Given the description of an element on the screen output the (x, y) to click on. 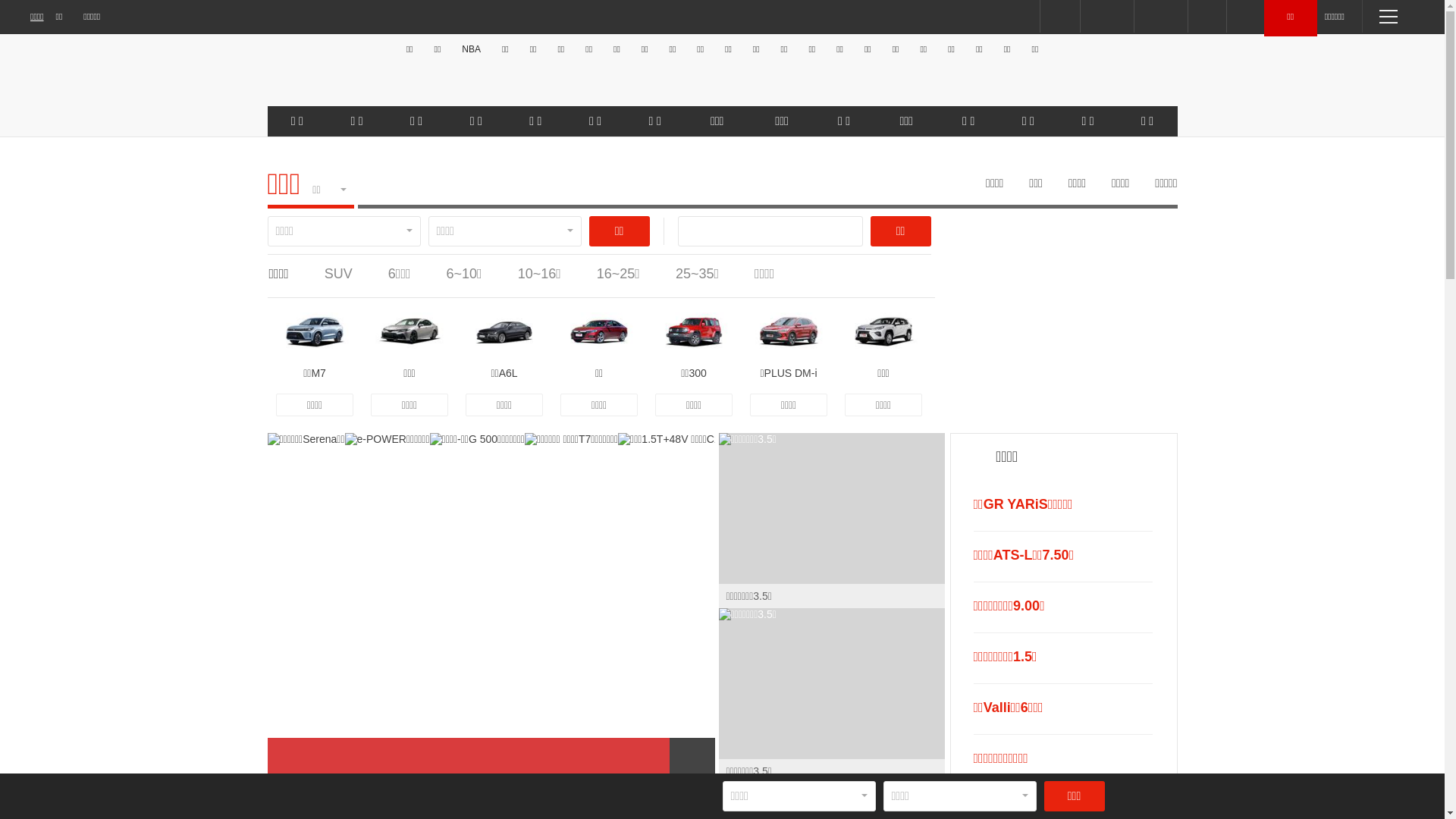
NBA Element type: text (471, 48)
SUV Element type: text (338, 273)
